Given the description of an element on the screen output the (x, y) to click on. 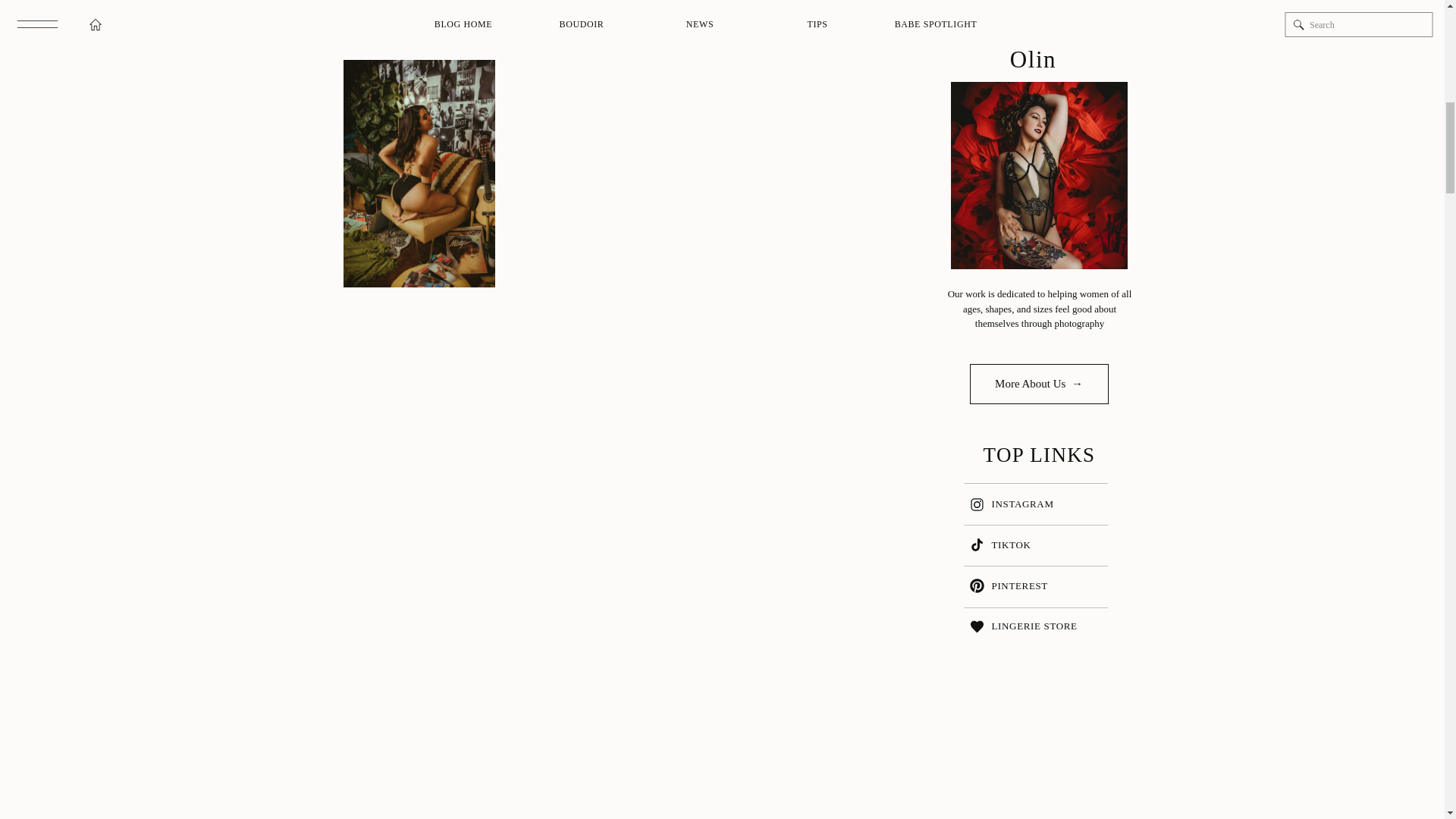
INSTAGRAM (1026, 503)
LINGERIE STORE (1045, 625)
PINTEREST (1045, 585)
TIKTOK (1015, 544)
